Given the description of an element on the screen output the (x, y) to click on. 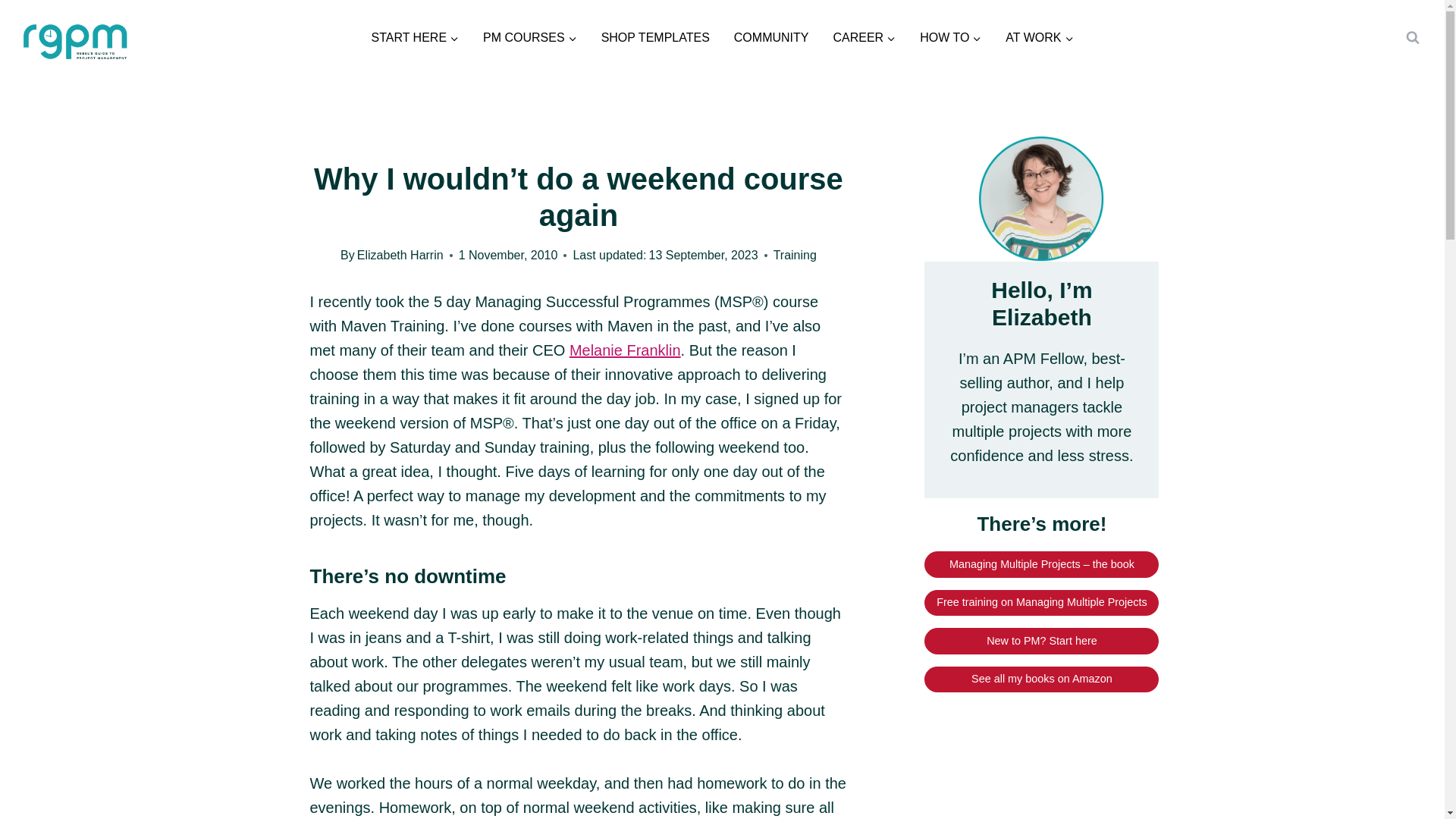
SHOP TEMPLATES (655, 38)
START HERE (414, 38)
HOW TO (949, 38)
AT WORK (1038, 38)
CAREER (864, 38)
Ada Lovelace Day interview with Melanie Franklin (625, 350)
COMMUNITY (771, 38)
PM COURSES (529, 38)
